Given the description of an element on the screen output the (x, y) to click on. 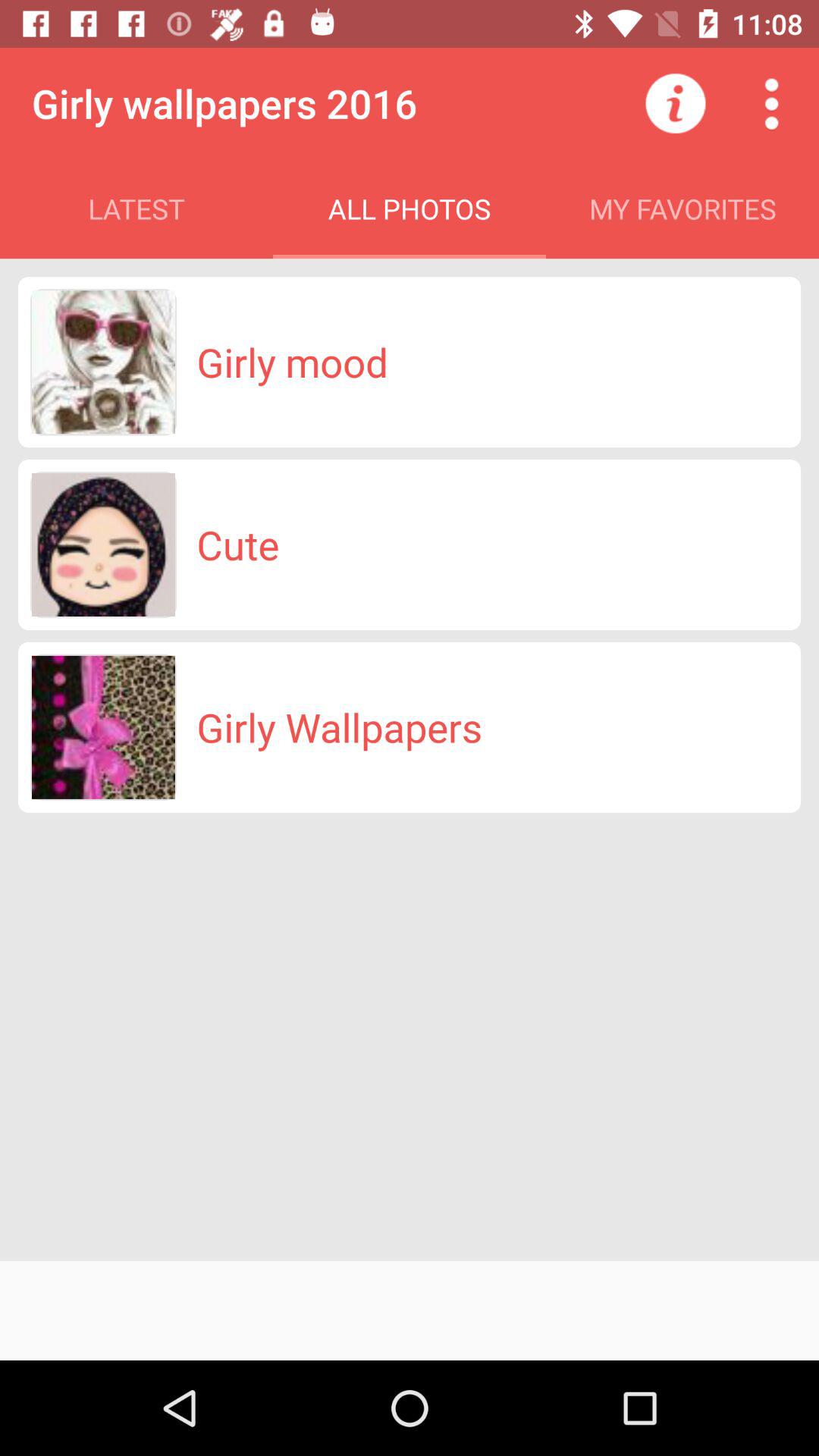
open the icon above girly wallpapers icon (237, 544)
